Given the description of an element on the screen output the (x, y) to click on. 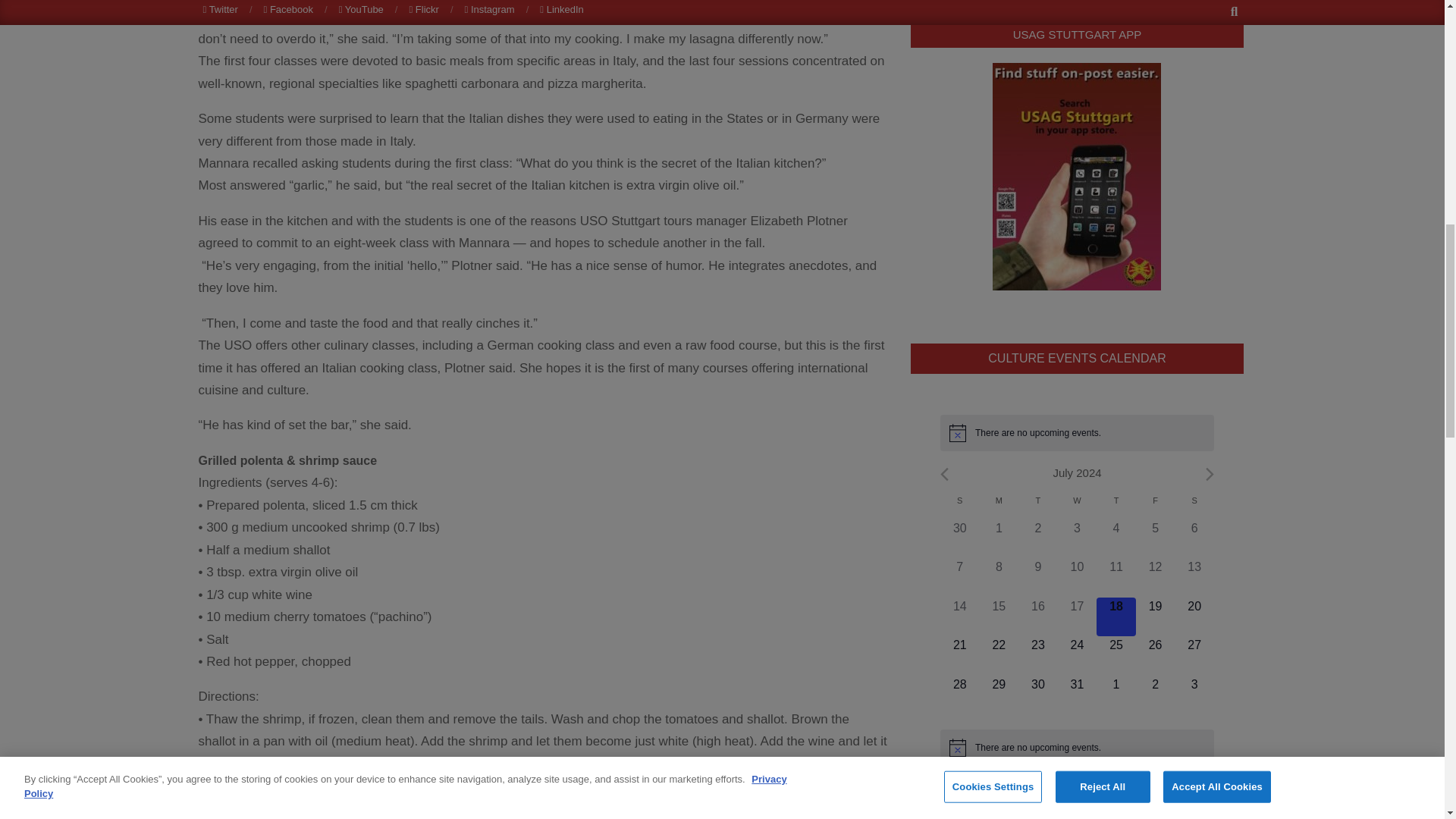
Next month (1209, 473)
Previous month (944, 473)
